Given the description of an element on the screen output the (x, y) to click on. 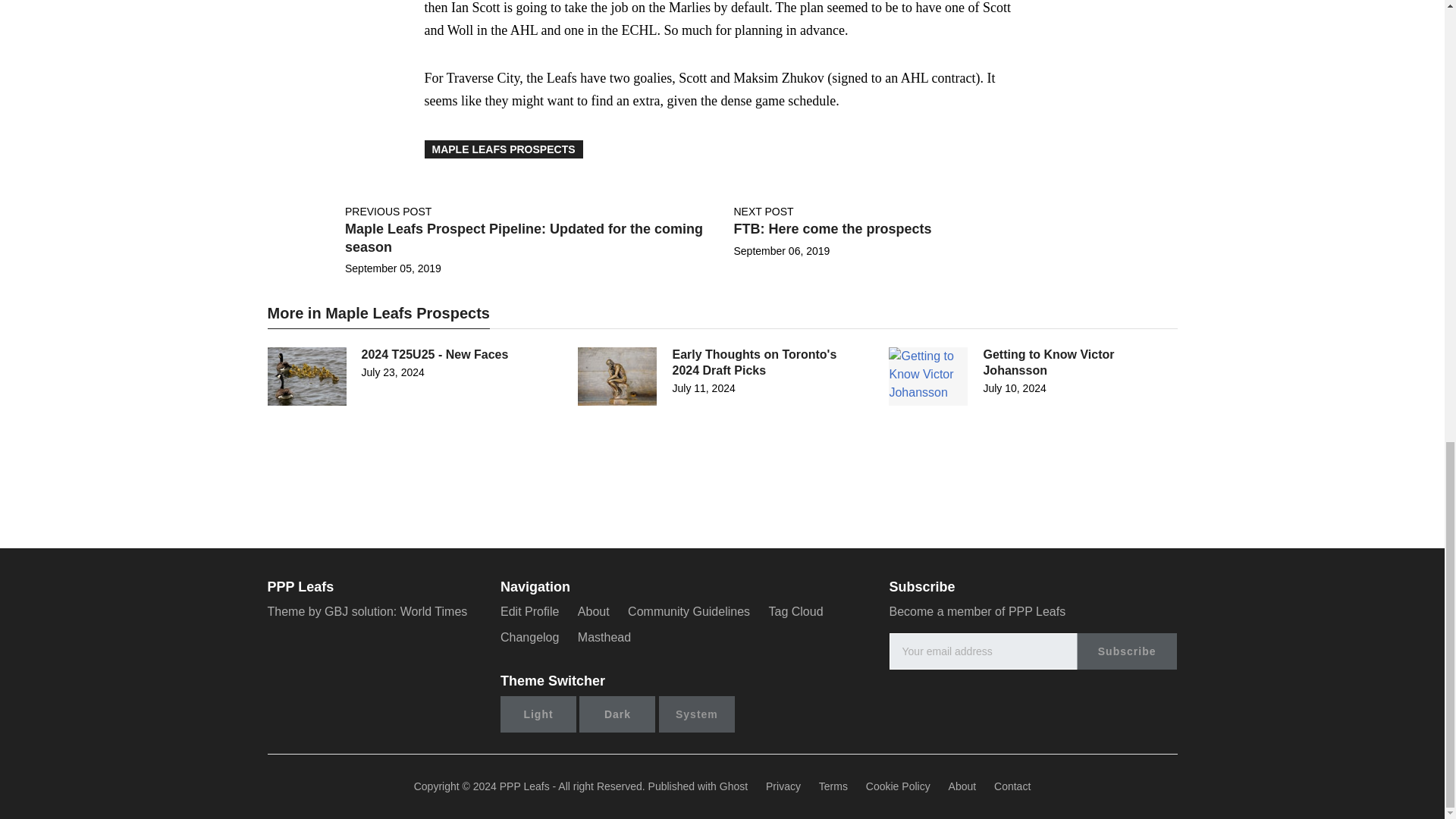
06 September, 2019 (781, 250)
10 July, 2024 (1013, 387)
11 July, 2024 (703, 387)
05 September, 2019 (393, 268)
23 July, 2024 (392, 372)
